Given the description of an element on the screen output the (x, y) to click on. 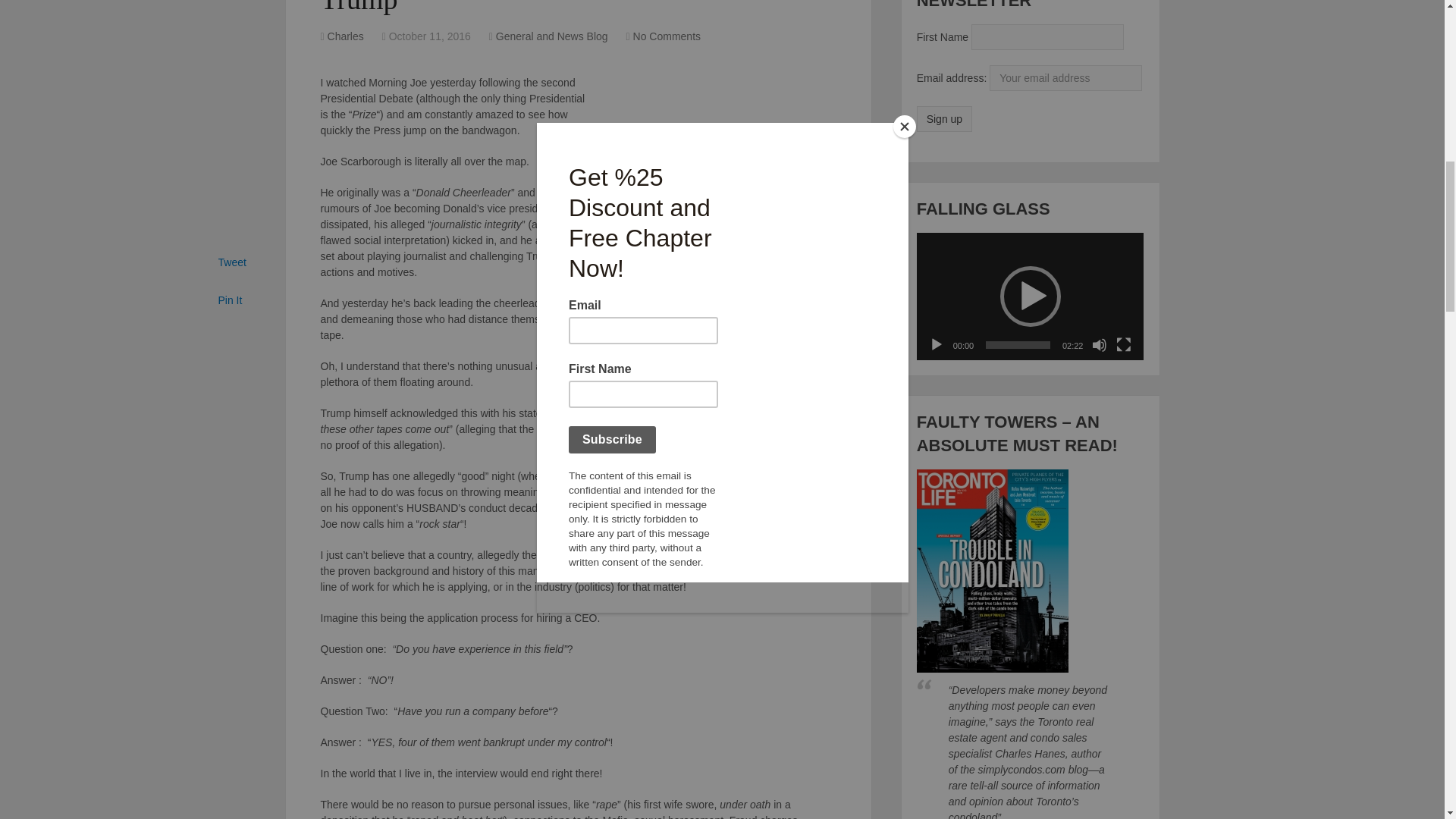
View all posts in General and News Blog (552, 36)
Posts by Charles (345, 36)
No Comments (666, 36)
Mute (1099, 344)
Sign up (944, 118)
General and News Blog (552, 36)
Play (935, 344)
Fullscreen (1123, 344)
Sign up (944, 118)
Charles (345, 36)
